Given the description of an element on the screen output the (x, y) to click on. 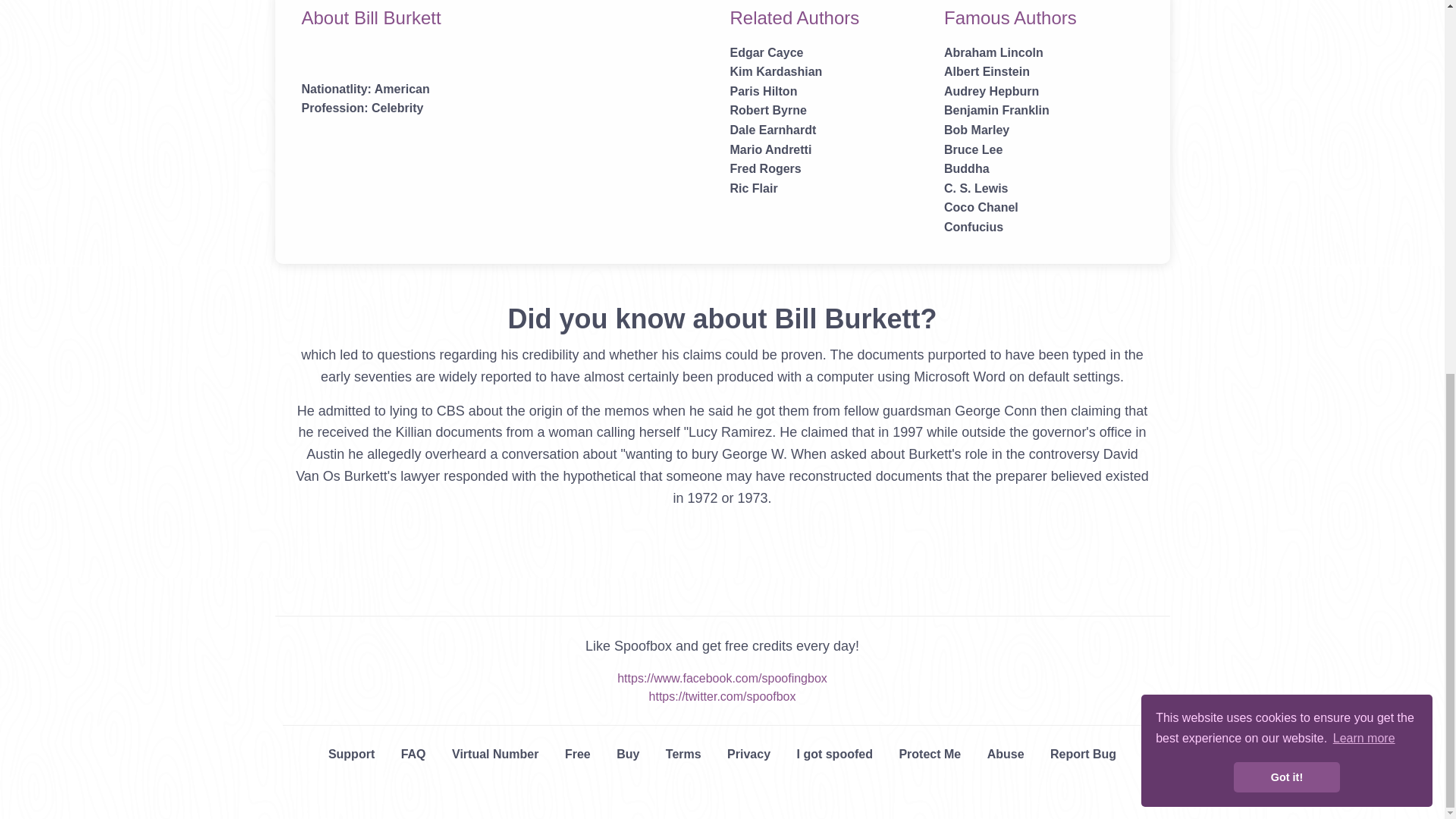
Got it! (1286, 91)
Learn more (1363, 52)
